Given the description of an element on the screen output the (x, y) to click on. 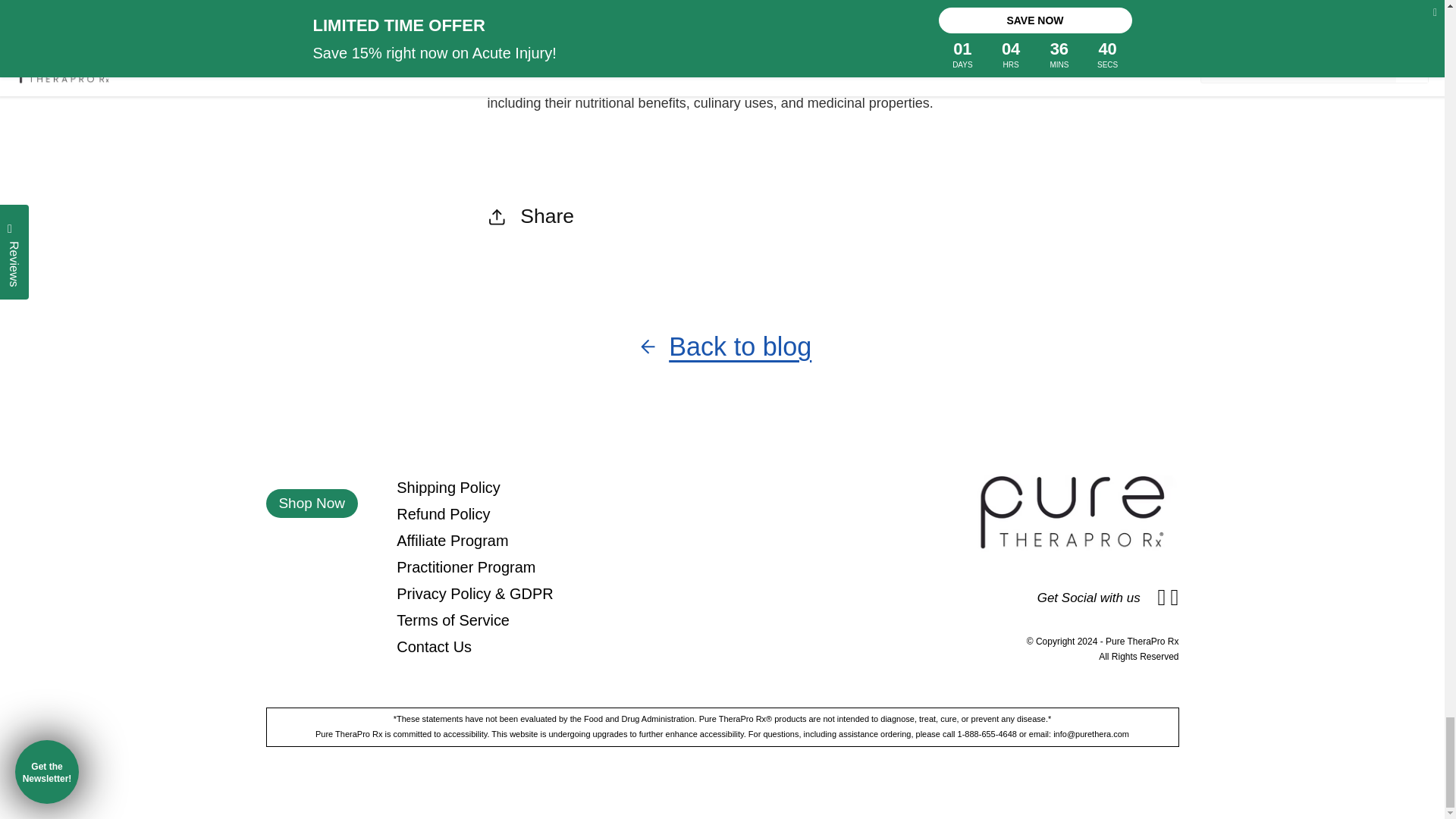
facebook link (1161, 597)
